Given the description of an element on the screen output the (x, y) to click on. 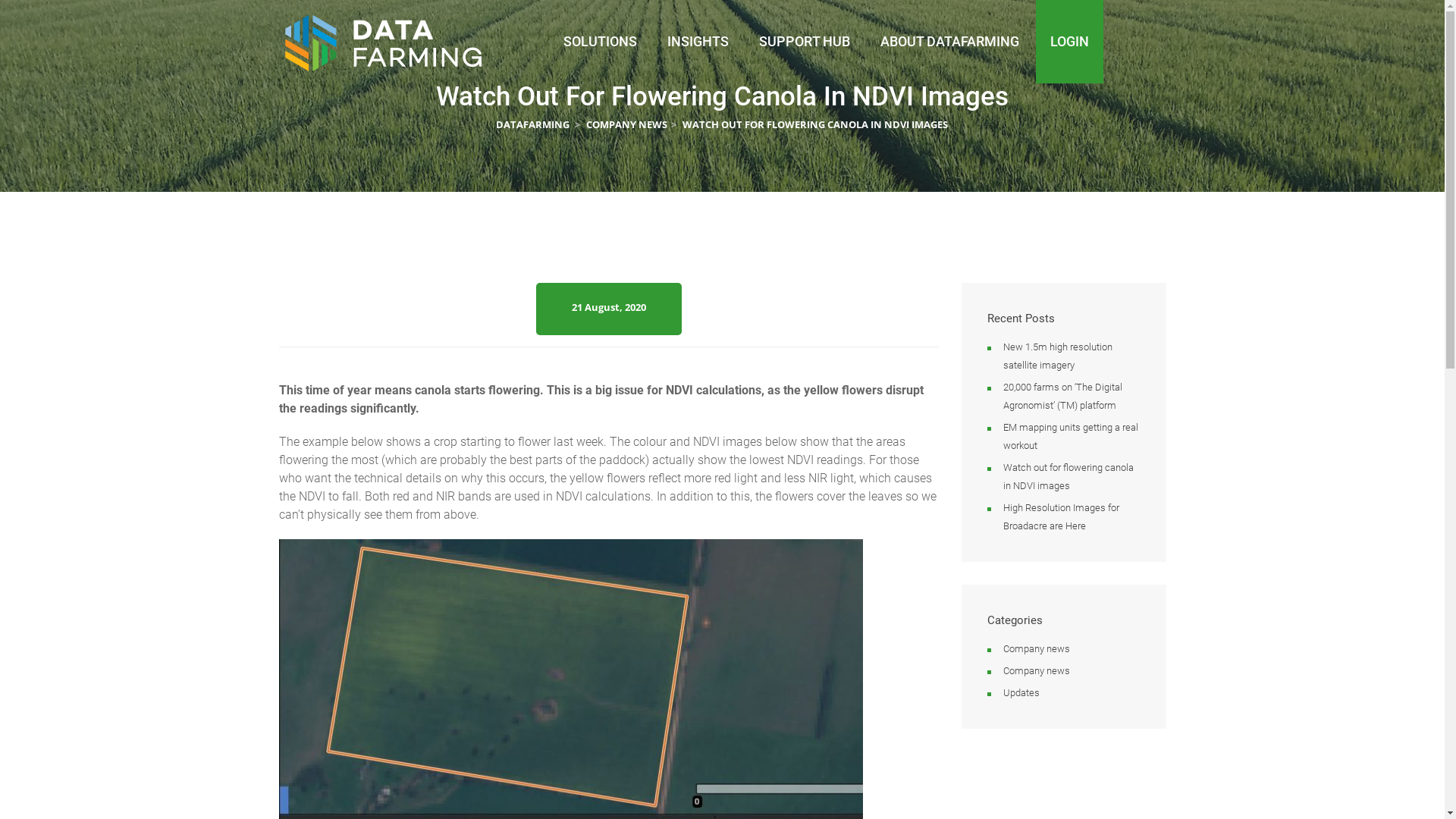
High Resolution Images for Broadacre are Here Element type: text (1060, 516)
SOLUTIONS Element type: text (599, 41)
COMPANY NEWS Element type: text (626, 124)
DATAFARMING Element type: text (533, 124)
21 August, 2020 Element type: text (608, 306)
EM mapping units getting a real workout Element type: text (1069, 436)
0 comments Element type: text (651, 314)
Watch out for flowering canola in NDVI images Element type: text (1067, 476)
New 1.5m high resolution satellite imagery Element type: text (1056, 355)
Company news Element type: text (581, 314)
SUPPORT HUB Element type: text (803, 41)
LOGIN Element type: text (1068, 41)
Updates Element type: text (1020, 692)
ABOUT DATAFARMING Element type: text (949, 41)
Company news Element type: text (1035, 670)
INSIGHTS Element type: text (697, 41)
Company news Element type: text (1035, 648)
